Given the description of an element on the screen output the (x, y) to click on. 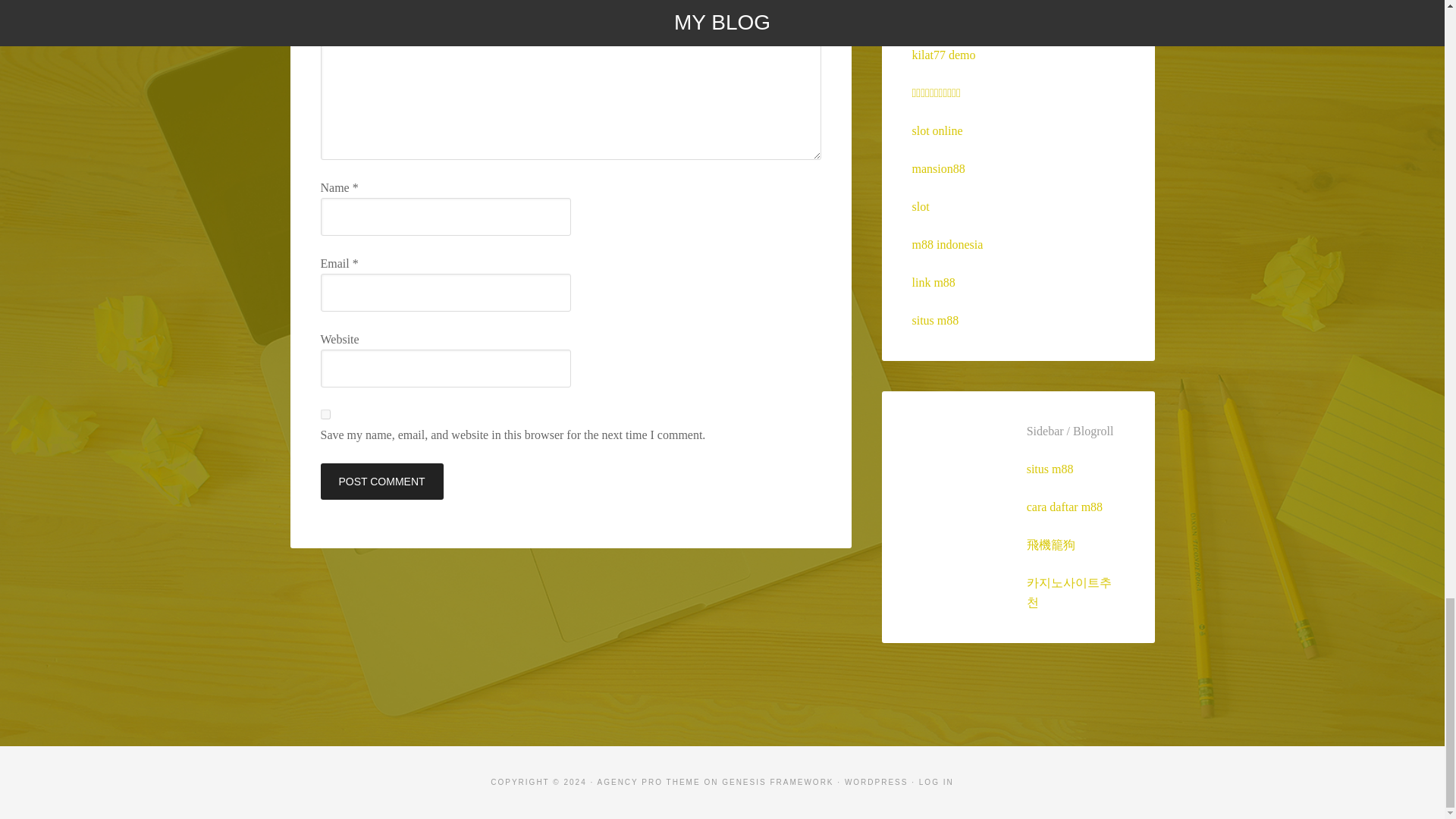
Post Comment (381, 481)
mansion88 (937, 168)
Post Comment (381, 481)
yes (325, 414)
